Given the description of an element on the screen output the (x, y) to click on. 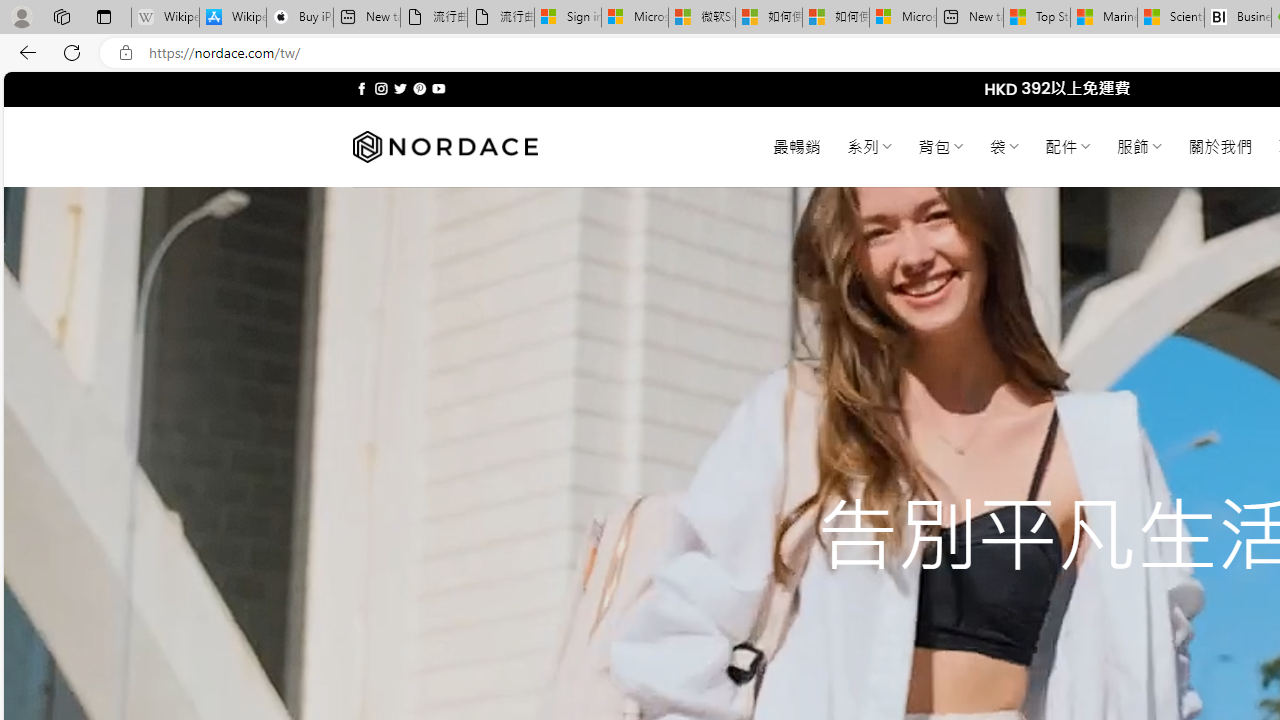
Buy iPad - Apple (299, 17)
Follow on Twitter (400, 88)
Follow on Instagram (381, 88)
